Given the description of an element on the screen output the (x, y) to click on. 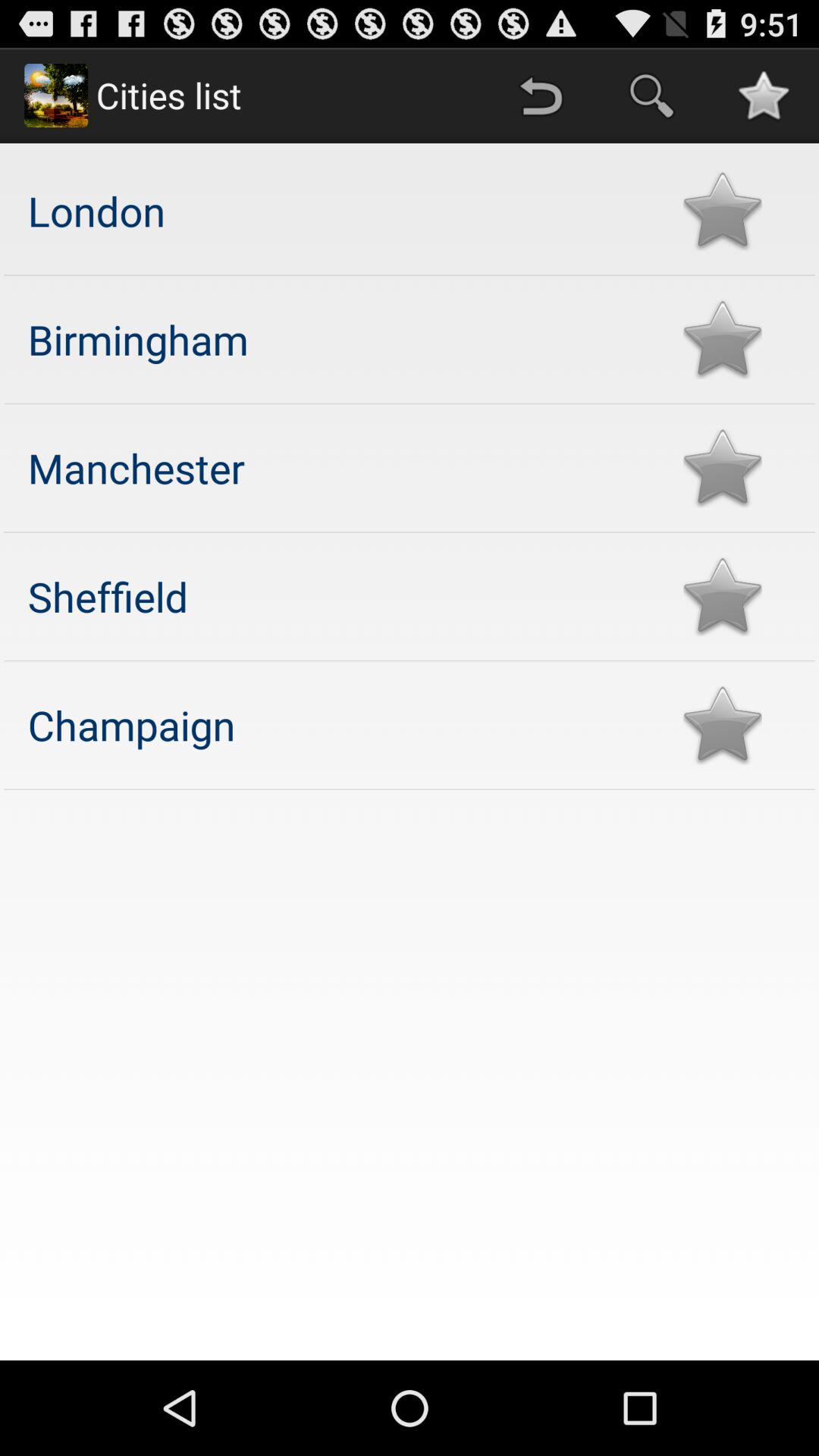
launch sheffield app (340, 595)
